Given the description of an element on the screen output the (x, y) to click on. 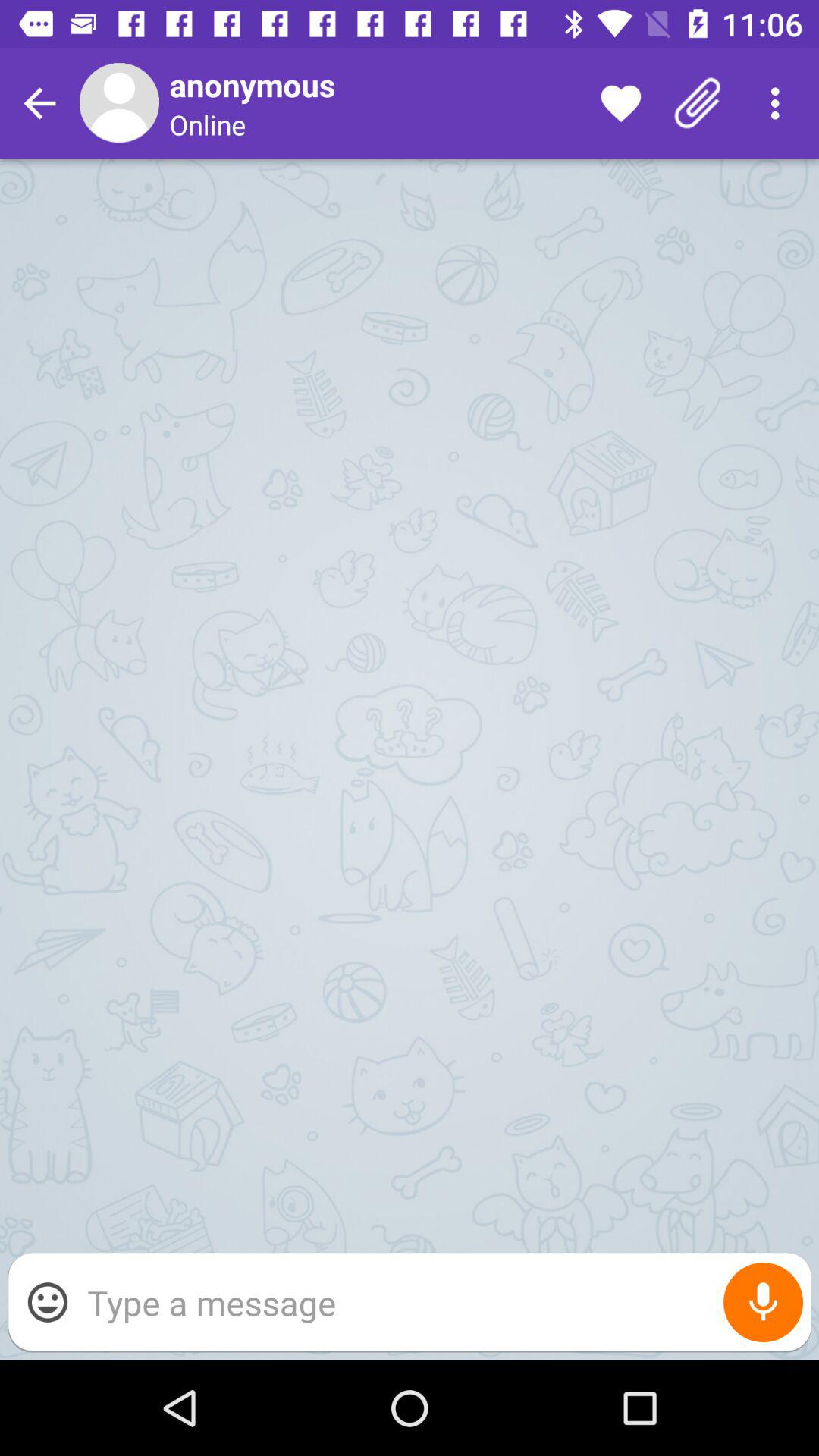
begin voice command (763, 1302)
